Given the description of an element on the screen output the (x, y) to click on. 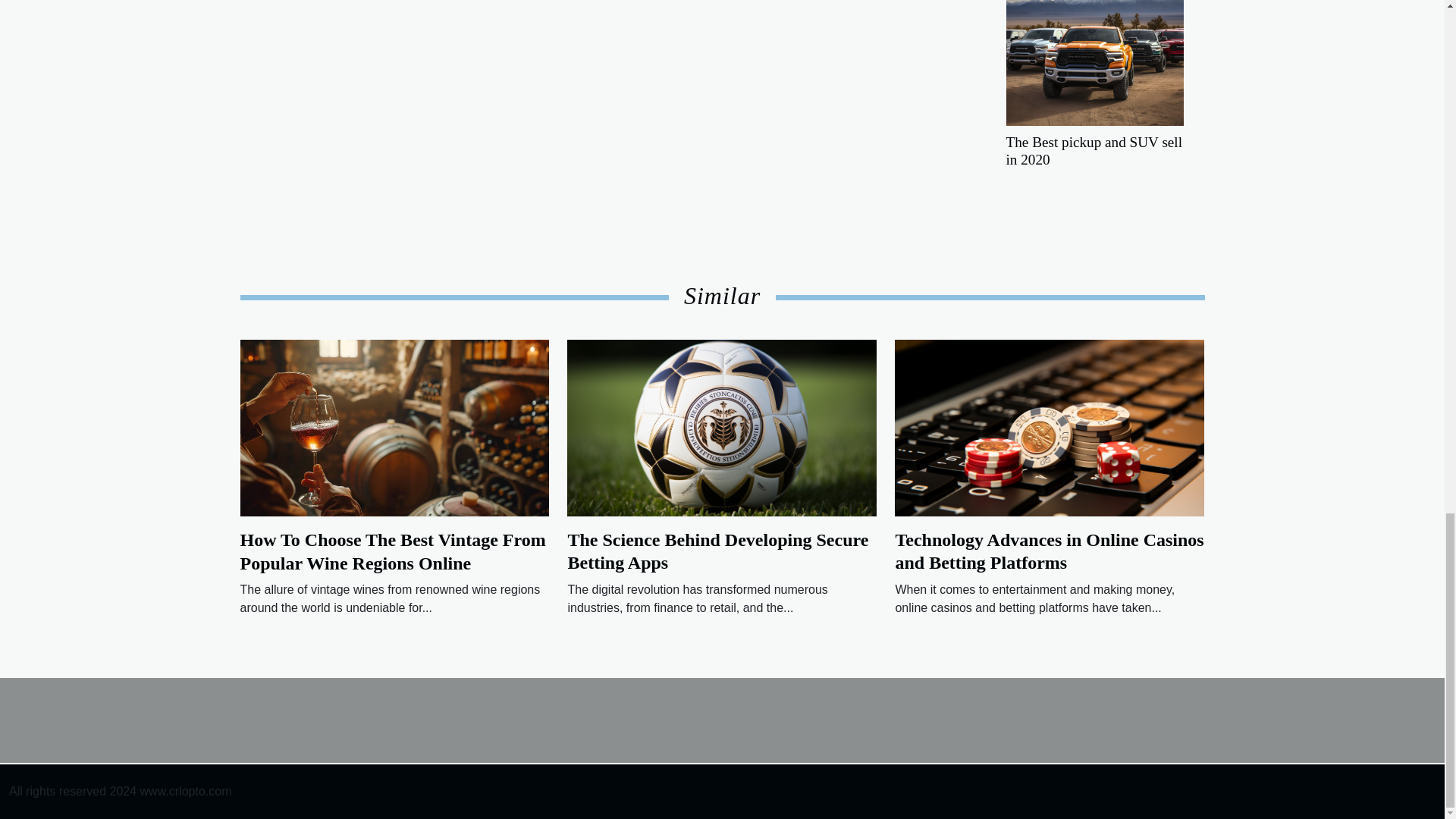
The Science Behind Developing Secure Betting Apps (717, 550)
The Best pickup and SUV sell in 2020 (1094, 48)
Technology Advances in Online Casinos and Betting Platforms (1049, 550)
The Science Behind Developing Secure Betting Apps (721, 427)
Technology Advances in Online Casinos and Betting Platforms (1049, 427)
The Best pickup and SUV sell in 2020 (1094, 150)
Technology Advances in Online Casinos and Betting Platforms (1049, 550)
The Science Behind Developing Secure Betting Apps (717, 550)
The Best pickup and SUV sell in 2020 (1094, 150)
